Given the description of an element on the screen output the (x, y) to click on. 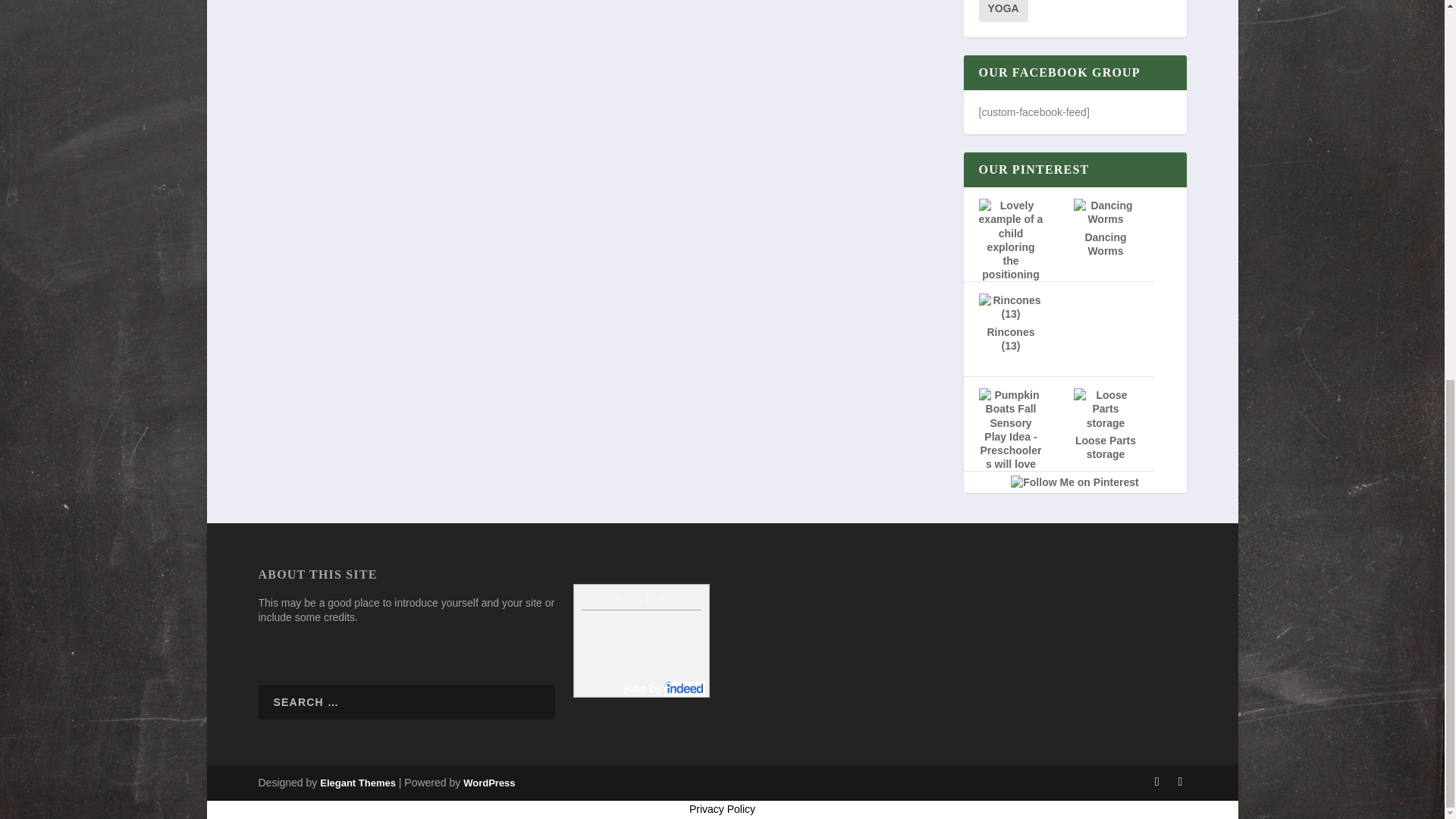
Job Search (665, 688)
